Given the description of an element on the screen output the (x, y) to click on. 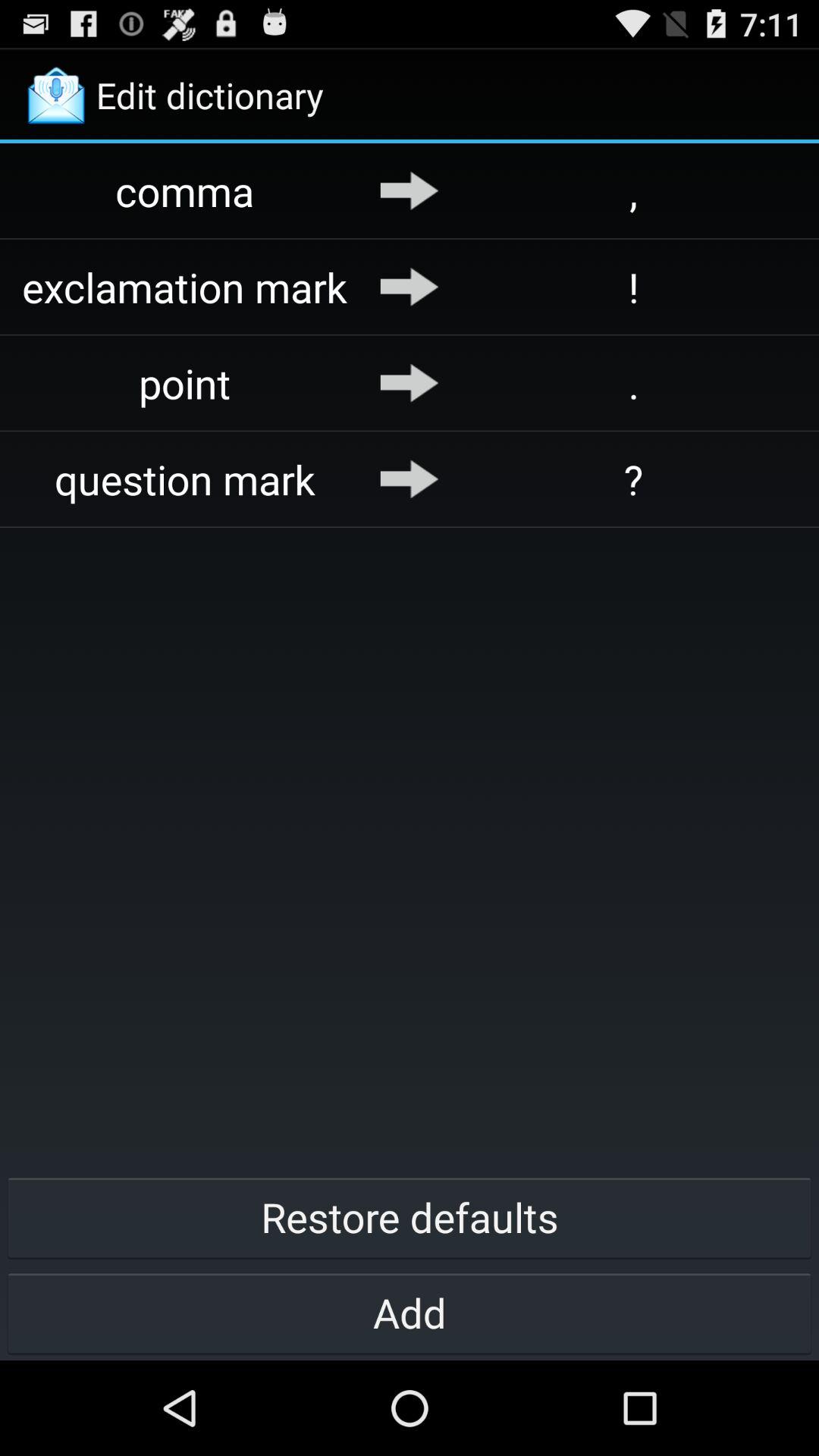
tap the item to the right of the comma (409, 190)
